Given the description of an element on the screen output the (x, y) to click on. 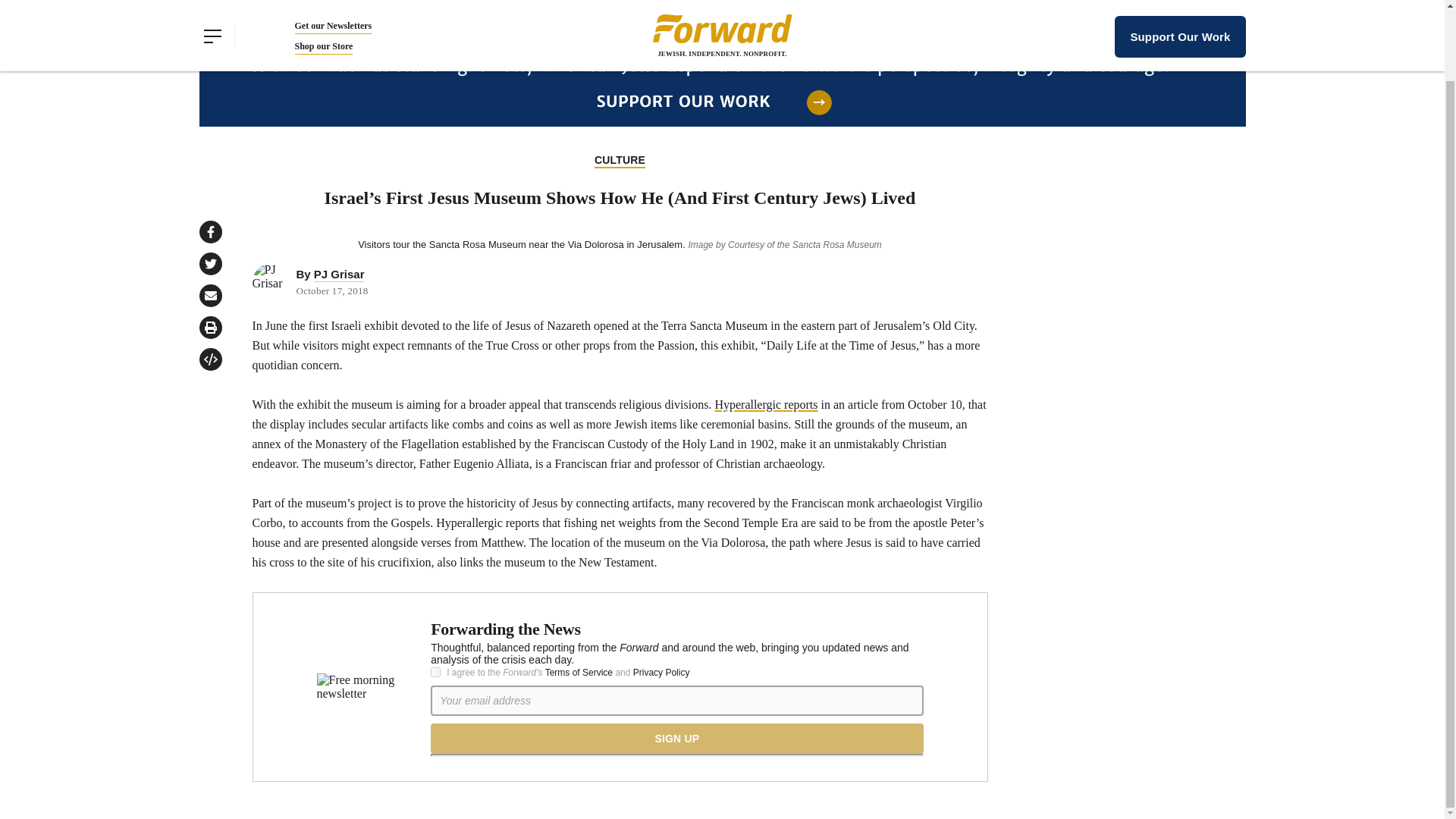
Yes (435, 672)
ELECTION 2024 (562, 9)
Sign Up (676, 738)
Click to open publish popup (209, 359)
ISRAEL AT WAR (461, 9)
ANTISEMITISM (660, 9)
